Given the description of an element on the screen output the (x, y) to click on. 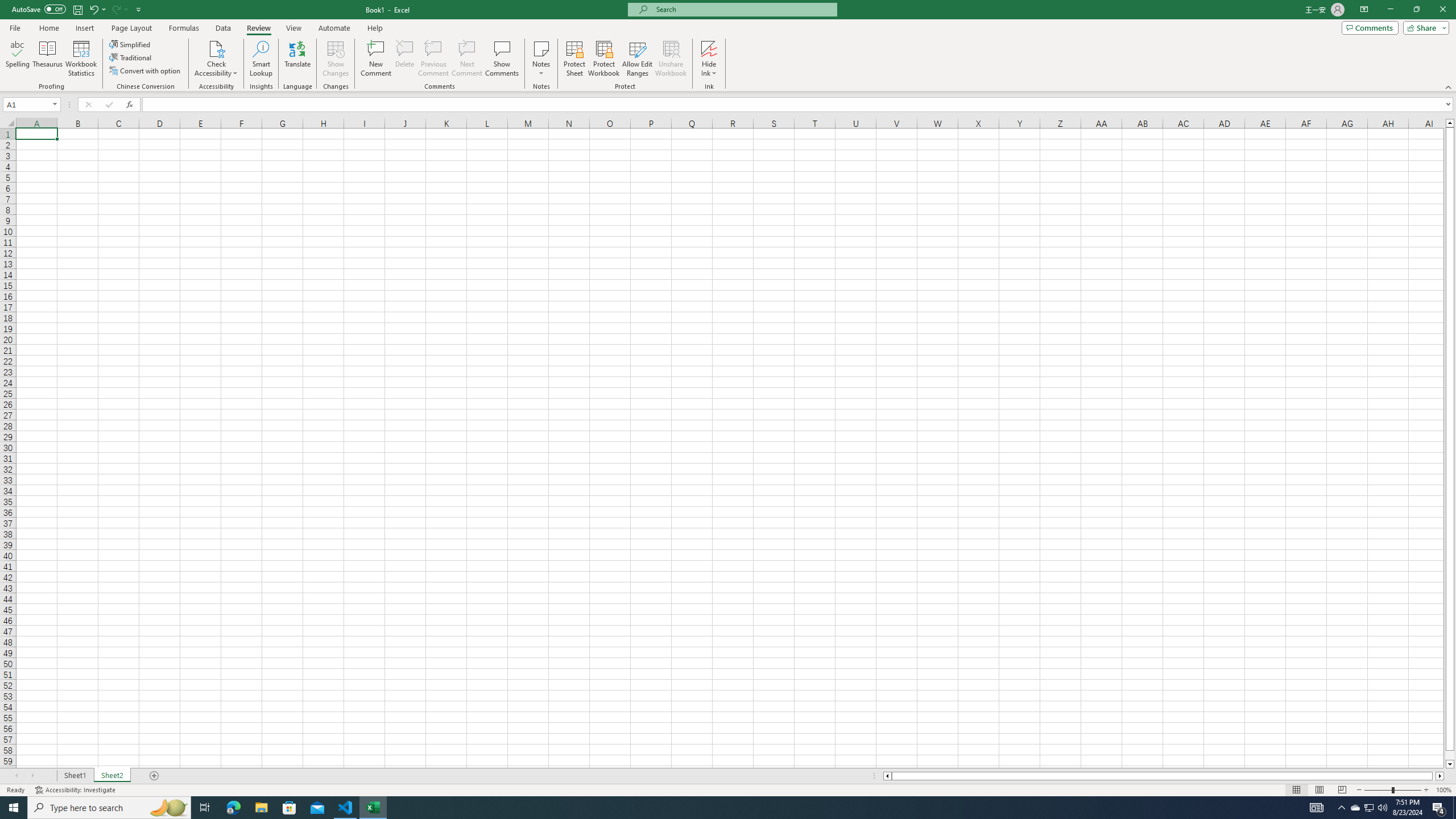
Translate (297, 58)
Delete (404, 58)
Protect Workbook... (603, 58)
AutoSave (38, 9)
Accessibility Checker Accessibility: Investigate (76, 790)
Workbook Statistics (81, 58)
